Given the description of an element on the screen output the (x, y) to click on. 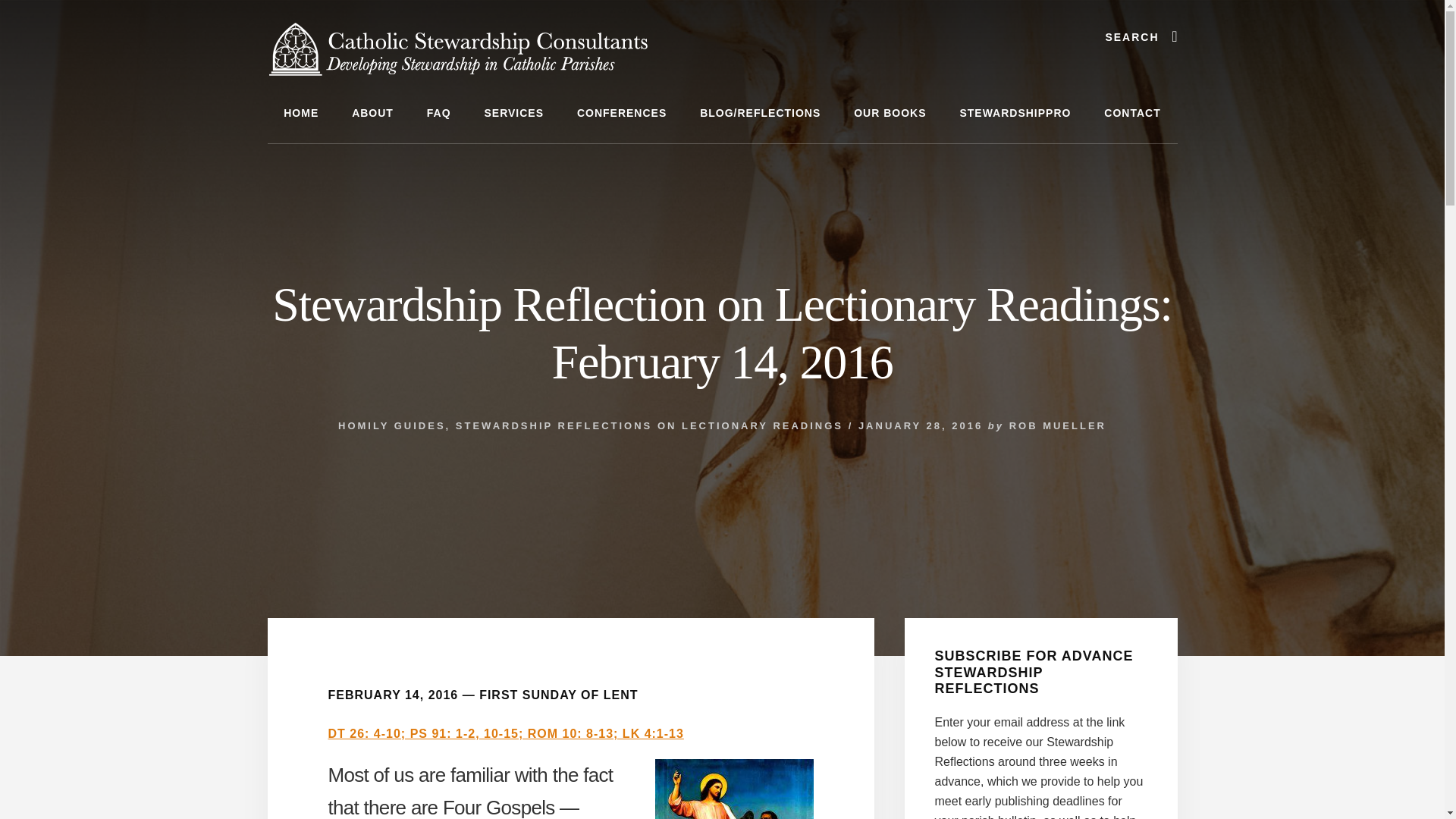
CONTACT (1131, 113)
HOME (300, 113)
DT 26: 4-10; PS 91: 1-2, 10-15; ROM 10: 8-13; LK 4:1-13 (504, 733)
STEWARDSHIP REFLECTIONS ON LECTIONARY READINGS (649, 425)
ROB MUELLER (1057, 425)
HOMILY GUIDES (391, 425)
FAQ (438, 113)
OUR BOOKS (889, 113)
ABOUT (372, 113)
STEWARDSHIPPRO (1014, 113)
SERVICES (513, 113)
